Given the description of an element on the screen output the (x, y) to click on. 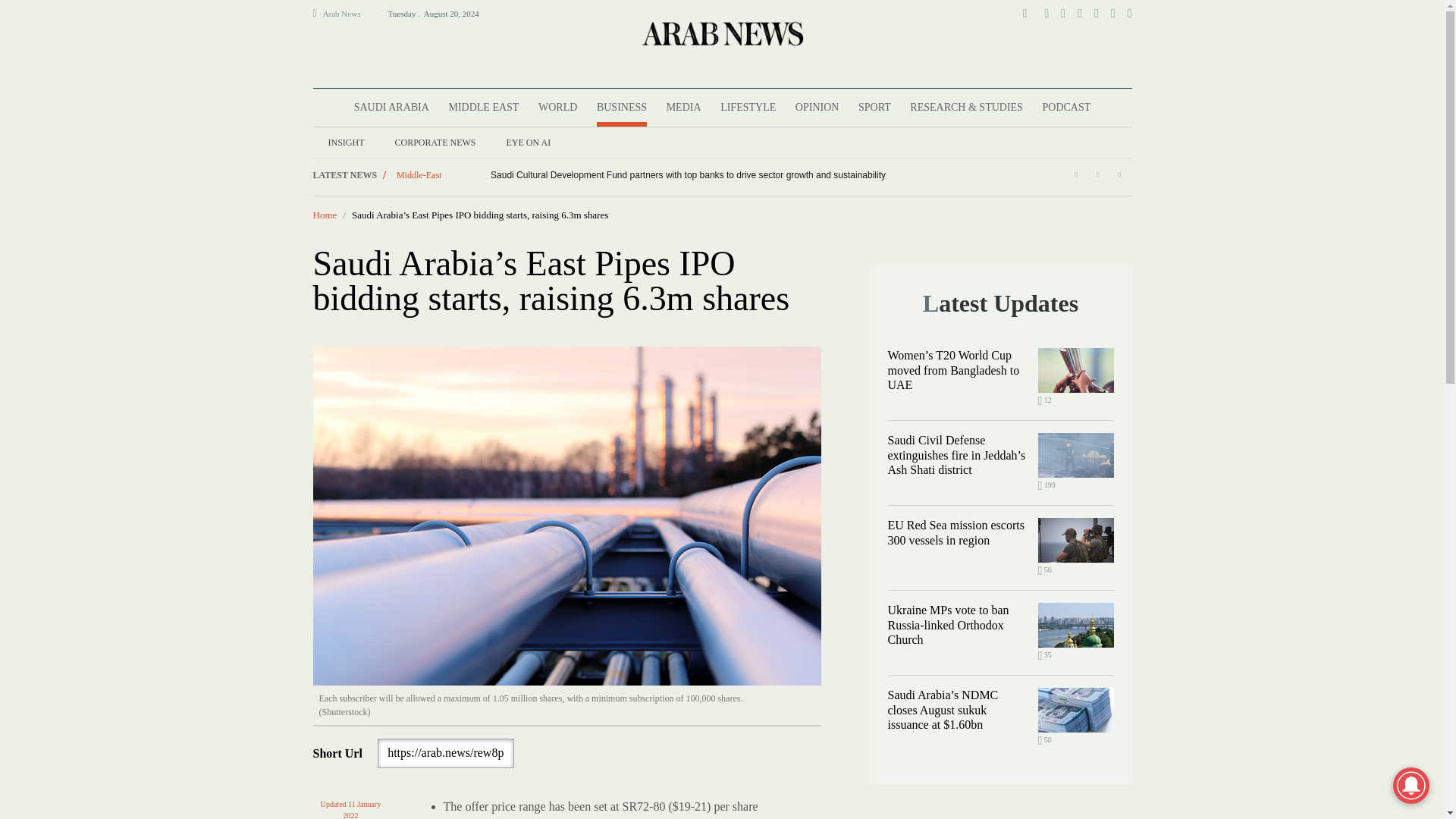
Arabnews (721, 33)
EU Red Sea mission escorts 300 vessels in region (1074, 539)
Arab News (348, 13)
